Given the description of an element on the screen output the (x, y) to click on. 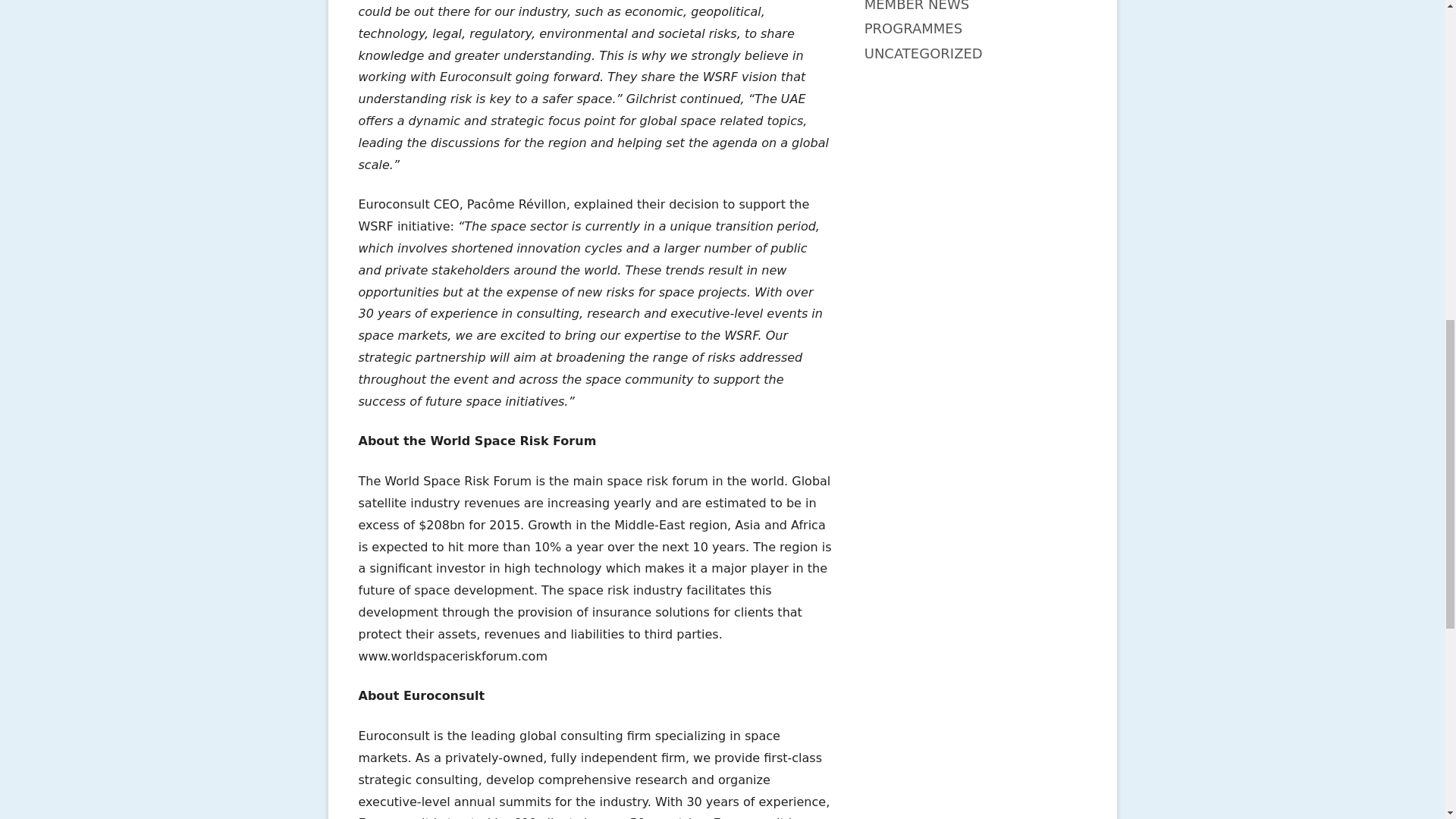
MEMBER NEWS (916, 6)
PROGRAMMES (913, 28)
UNCATEGORIZED (923, 53)
